Given the description of an element on the screen output the (x, y) to click on. 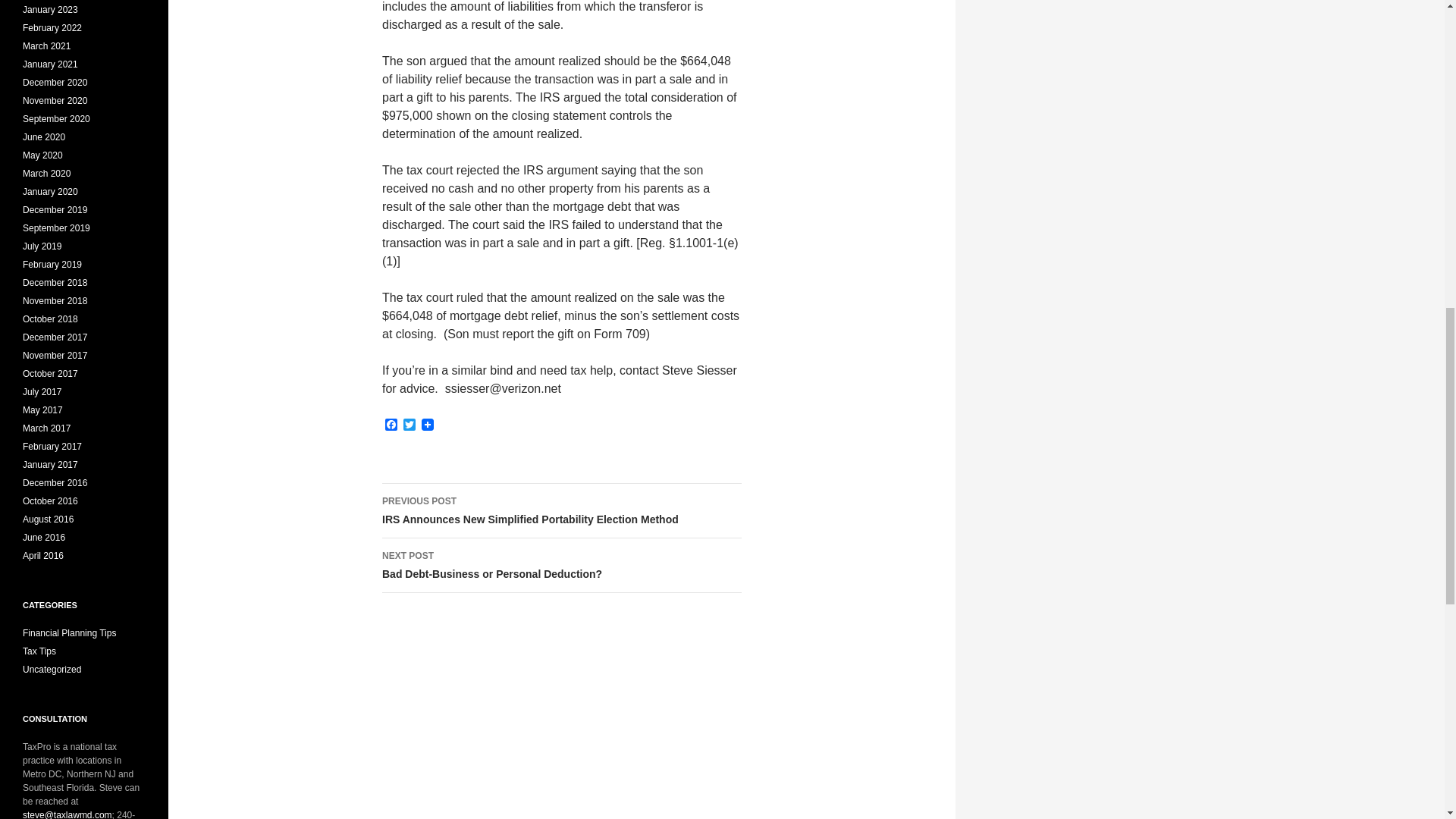
December 2020 (55, 81)
Facebook (390, 425)
January 2021 (50, 63)
Twitter (409, 425)
Facebook (390, 425)
January 2023 (561, 565)
March 2021 (50, 9)
Twitter (46, 45)
February 2022 (409, 425)
